Given the description of an element on the screen output the (x, y) to click on. 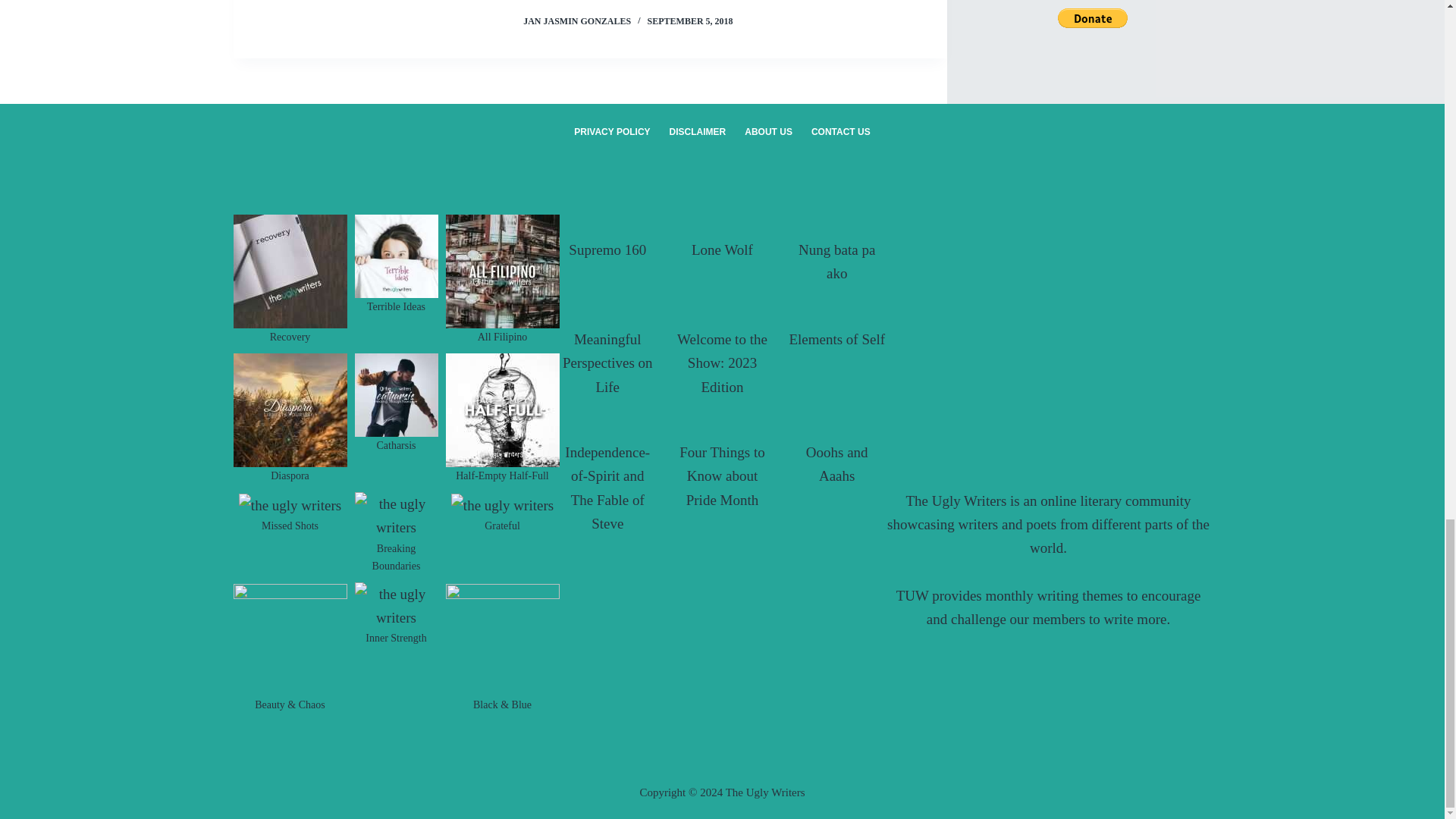
Of Love and War (1048, 306)
Posts by Jan Jasmin Gonzales (576, 20)
